Given the description of an element on the screen output the (x, y) to click on. 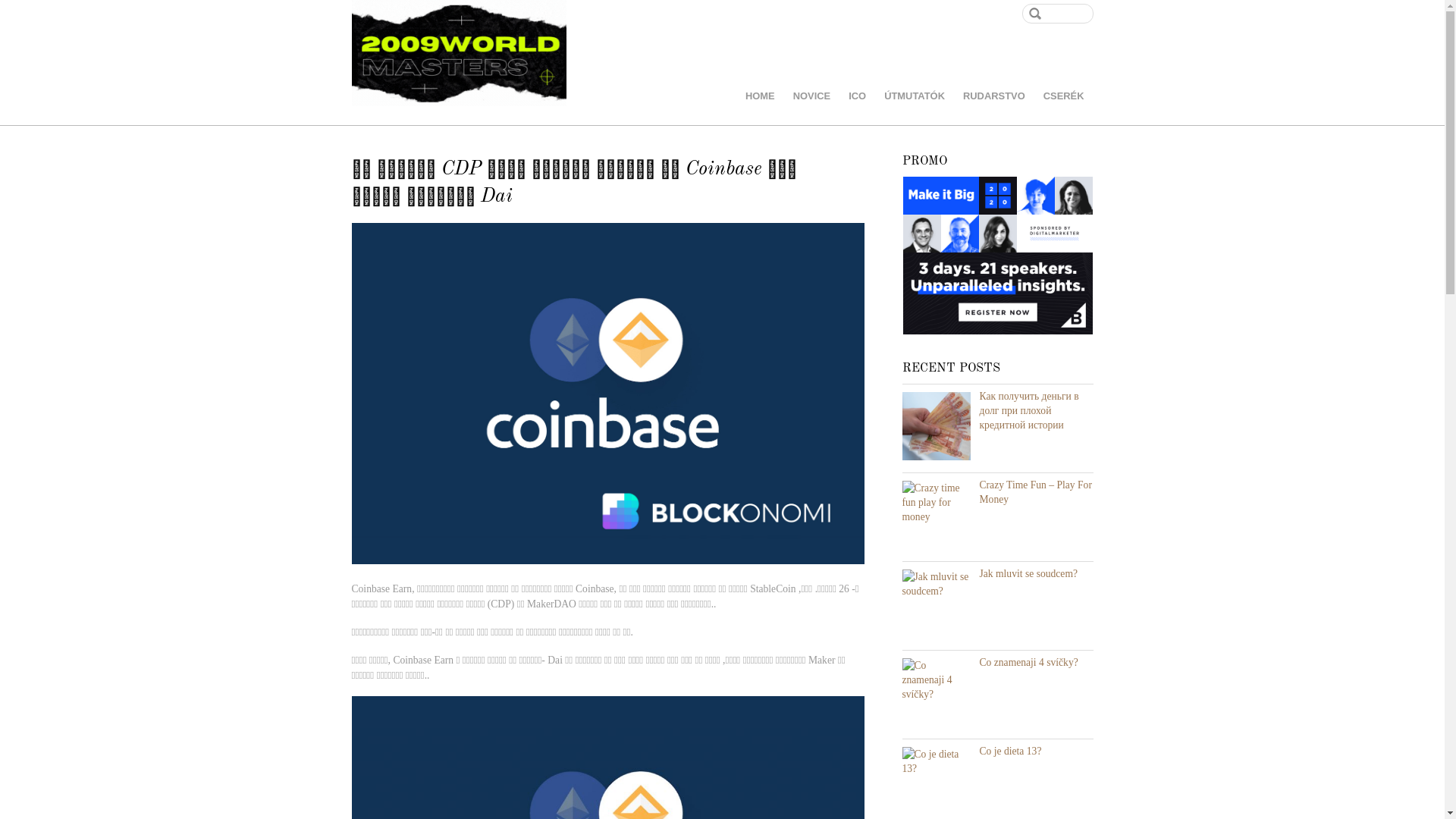
ICO Element type: text (857, 96)
NOVICE Element type: text (811, 96)
Co je dieta 13? Element type: text (1010, 750)
Search Element type: hover (1057, 13)
2009worldmasters.com Element type: hover (459, 53)
2009worldmasters.com Element type: hover (459, 86)
RUDARSTVO Element type: text (993, 96)
Jak mluvit se soudcem? Element type: text (1028, 573)
HOME Element type: text (760, 96)
